Given the description of an element on the screen output the (x, y) to click on. 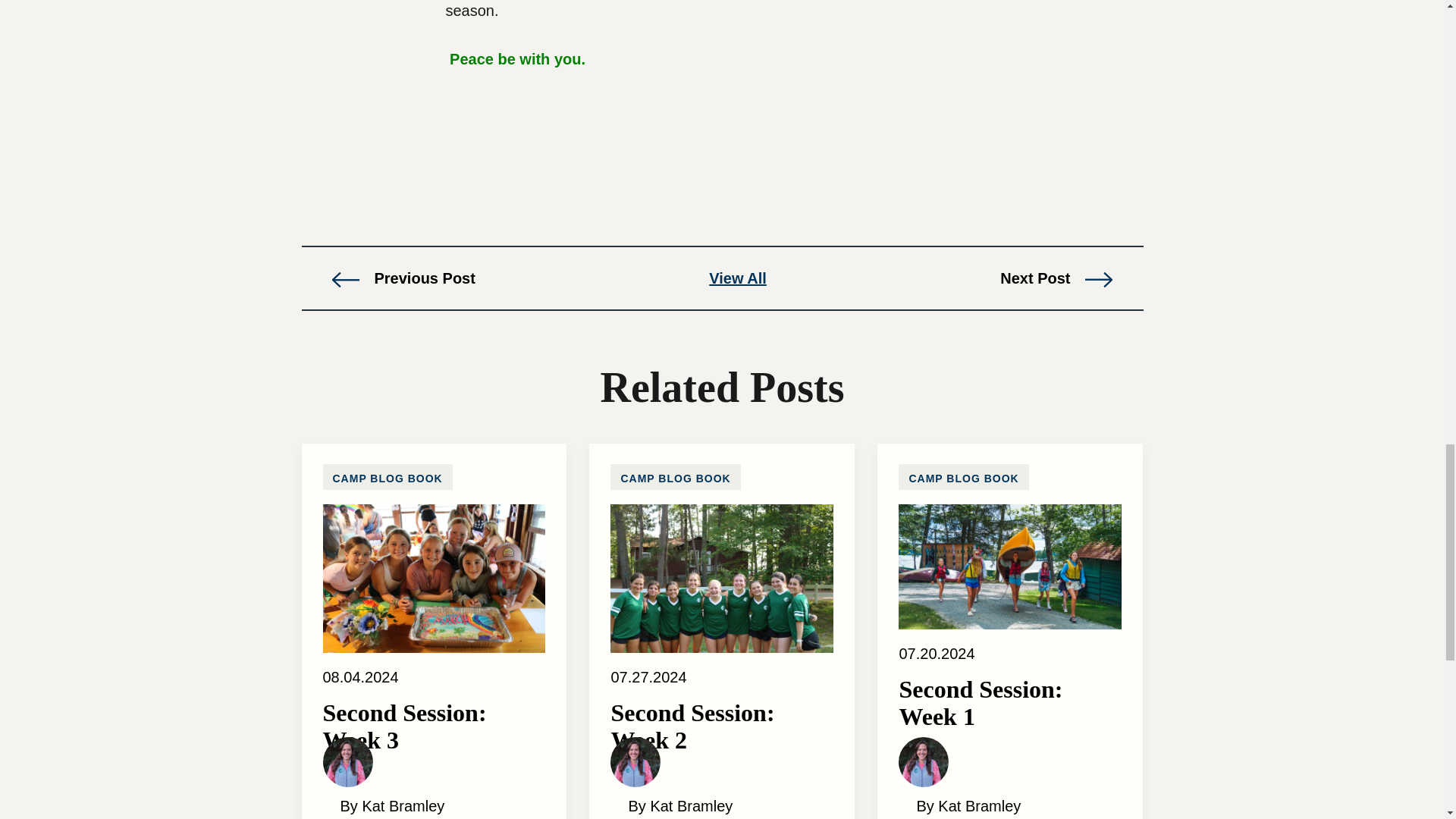
Second Session: Week 3 (434, 732)
Kat Bramley (347, 760)
View all (738, 278)
Second Session: Week 3 (434, 577)
